Given the description of an element on the screen output the (x, y) to click on. 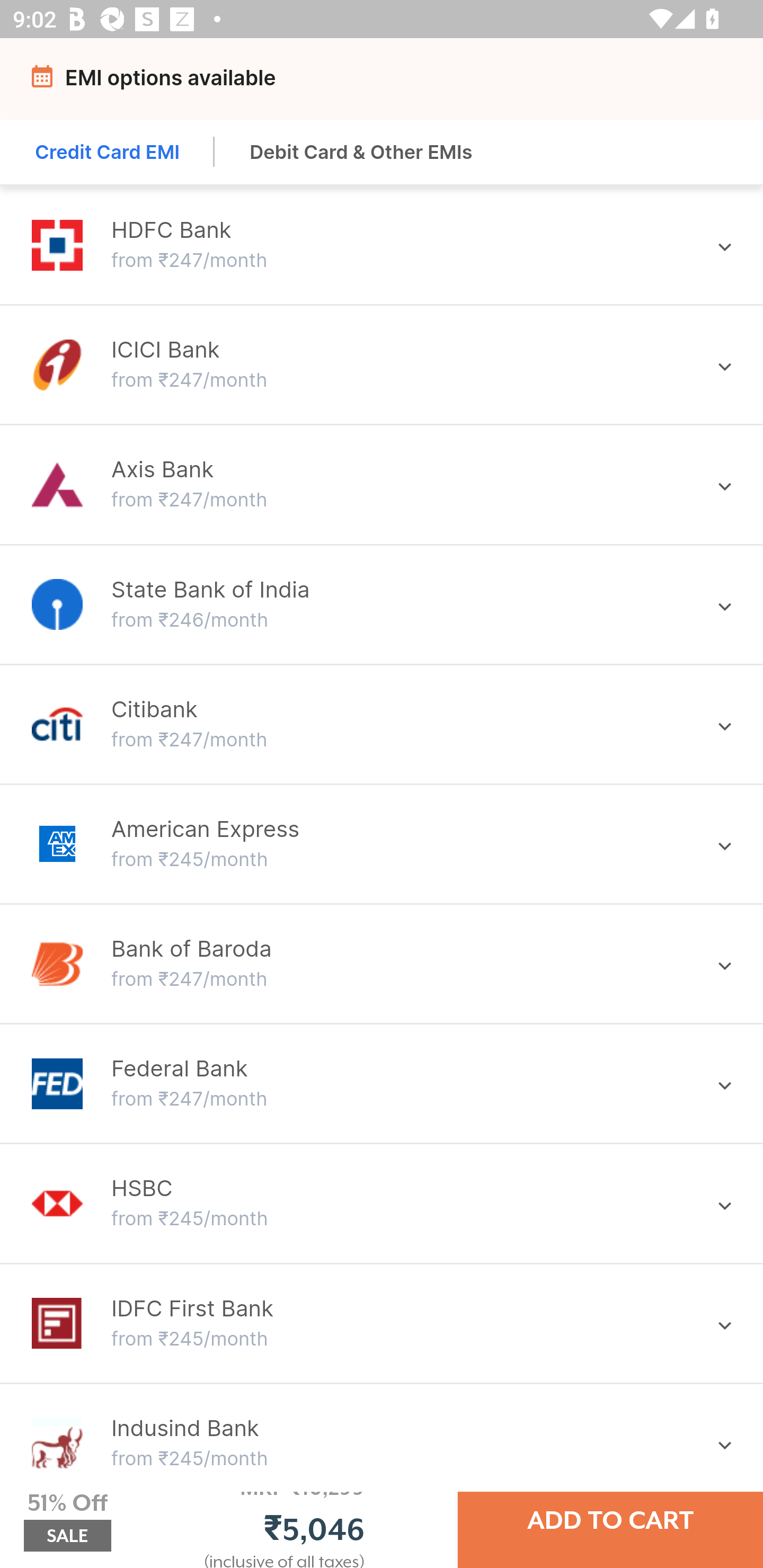
Navigate up (44, 82)
Credit Card EMI (107, 152)
Debit Card & Other EMIs (361, 152)
HDFC Bank HDFC Bank from ₹247/month (381, 244)
ICICI Bank ICICI Bank from ₹247/month (381, 364)
Axis Bank Axis Bank from ₹247/month (381, 484)
Citibank Citibank from ₹247/month (381, 723)
American Express American Express from ₹245/month (381, 843)
Bank of Baroda Bank of Baroda from ₹247/month (381, 963)
Federal Bank Federal Bank from ₹247/month (381, 1083)
HSBC HSBC from ₹245/month (381, 1203)
IDFC First Bank IDFC First Bank from ₹245/month (381, 1322)
Indusind Bank Indusind Bank from ₹245/month (381, 1443)
ADD TO CART (610, 1520)
